Given the description of an element on the screen output the (x, y) to click on. 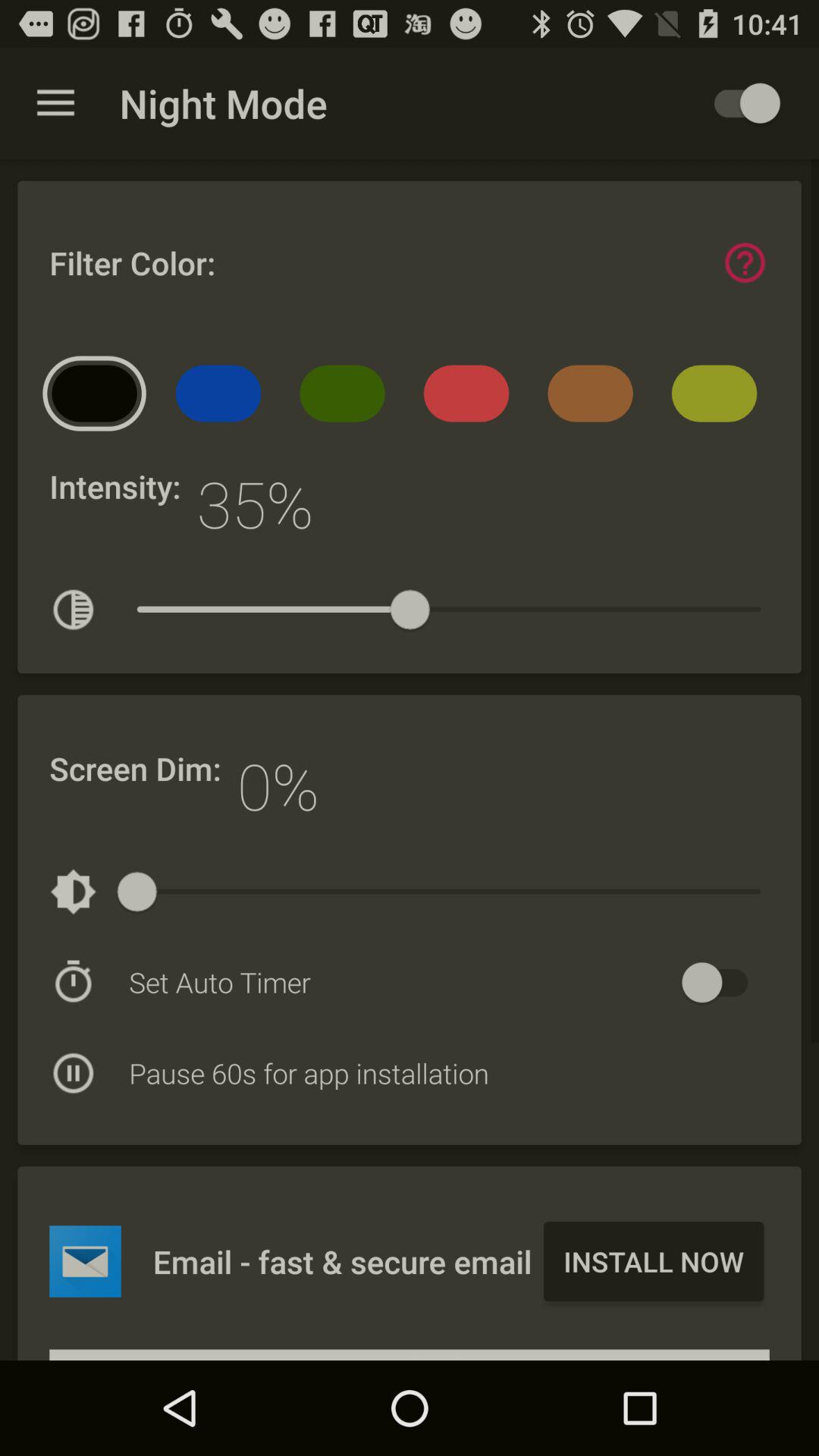
go to emaill (85, 1261)
